Given the description of an element on the screen output the (x, y) to click on. 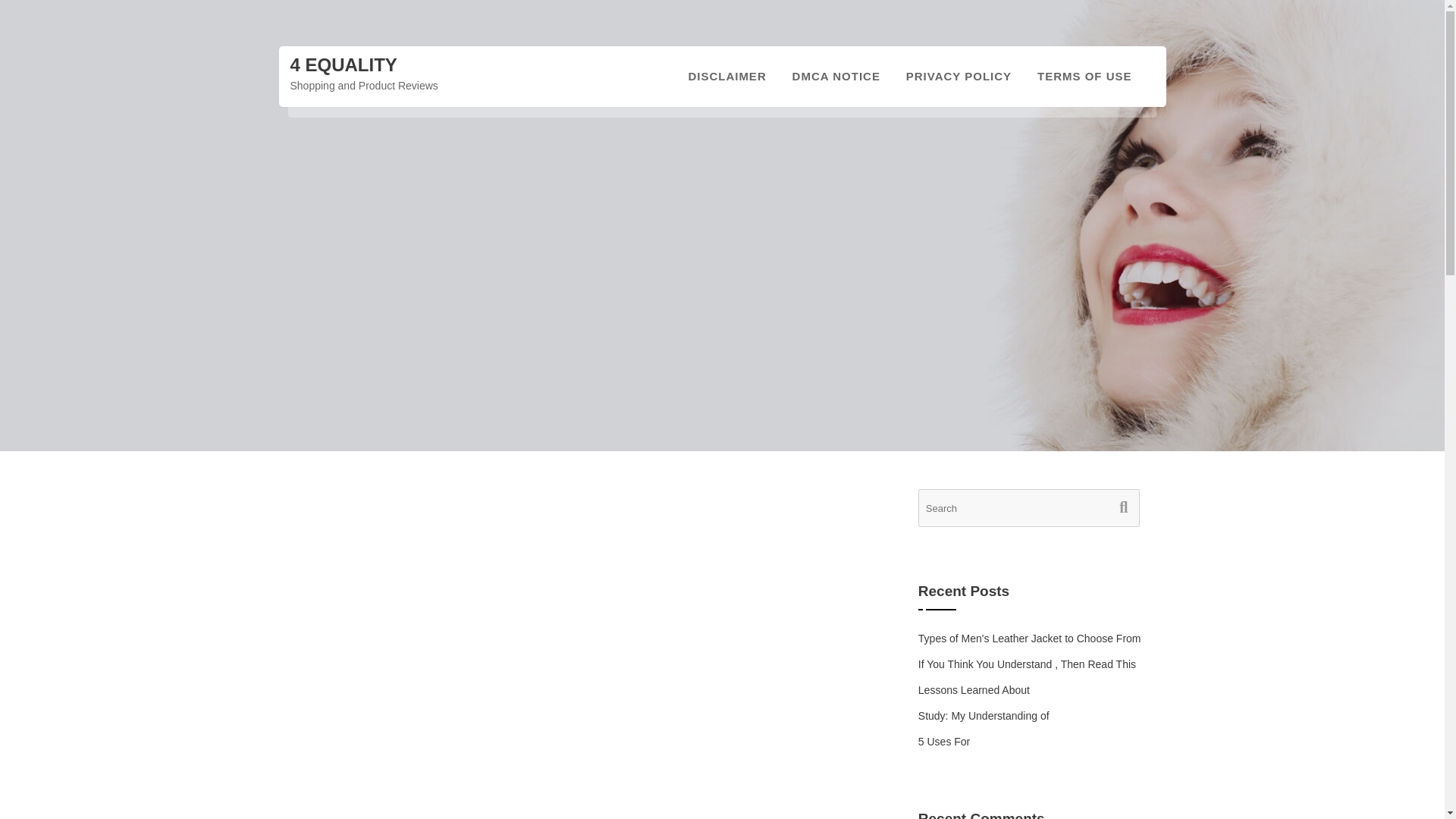
Lessons Learned About (973, 689)
4 EQUALITY (342, 64)
Study: My Understanding of (983, 715)
4 Equality (342, 64)
DMCA NOTICE (835, 76)
PRIVACY POLICY (959, 76)
TERMS OF USE (1084, 76)
If You Think You Understand , Then Read This (1026, 664)
5 Uses For (943, 741)
Types of Men's Leather Jacket to Choose From (1029, 638)
